Given the description of an element on the screen output the (x, y) to click on. 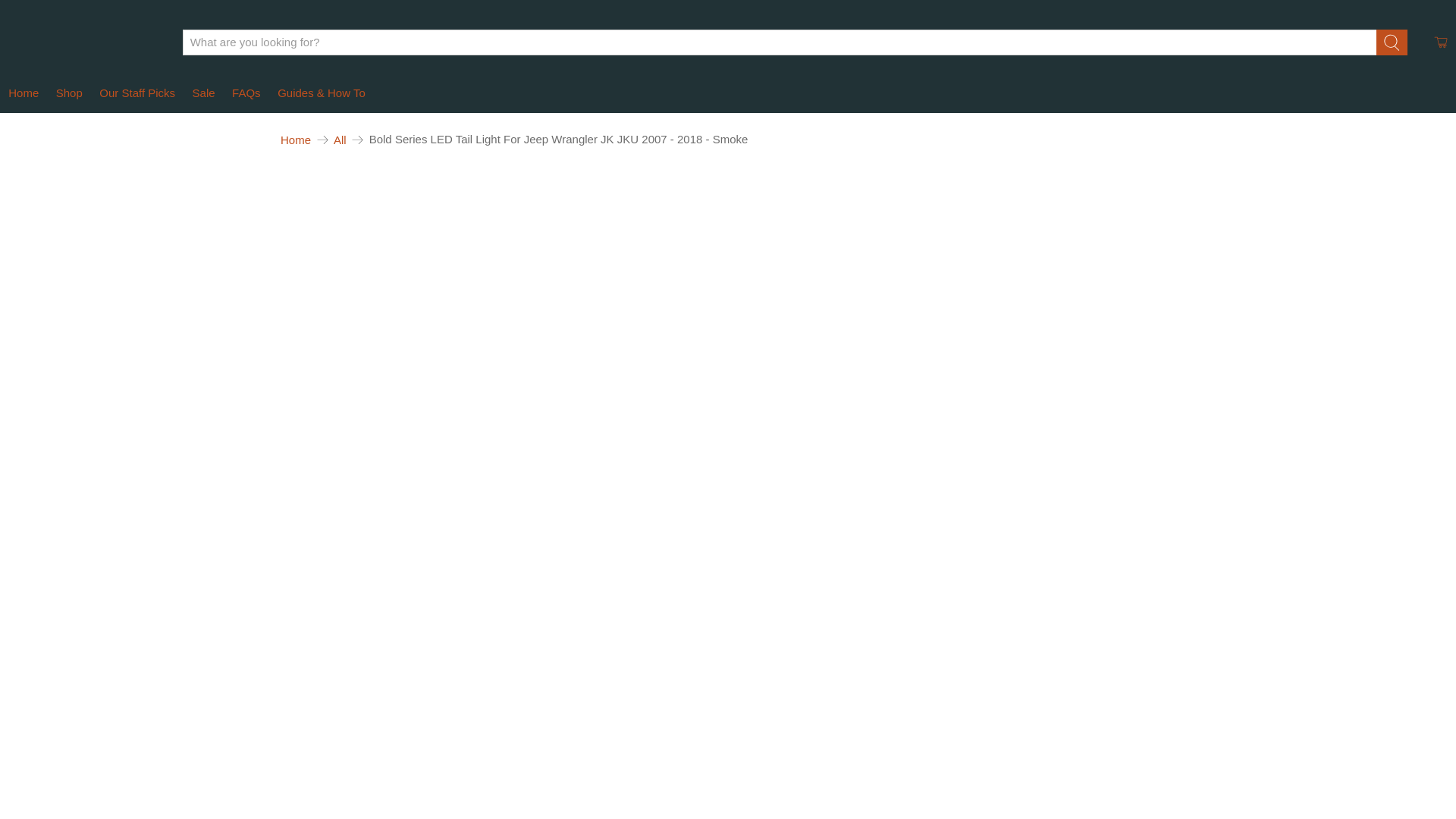
It's a Jeep Thing Shop (84, 41)
Sale (203, 93)
Home (24, 93)
FAQs (246, 93)
Shop (69, 93)
It's a Jeep Thing Shop (296, 139)
Home (296, 139)
All (339, 139)
Our Staff Picks (136, 93)
